Given the description of an element on the screen output the (x, y) to click on. 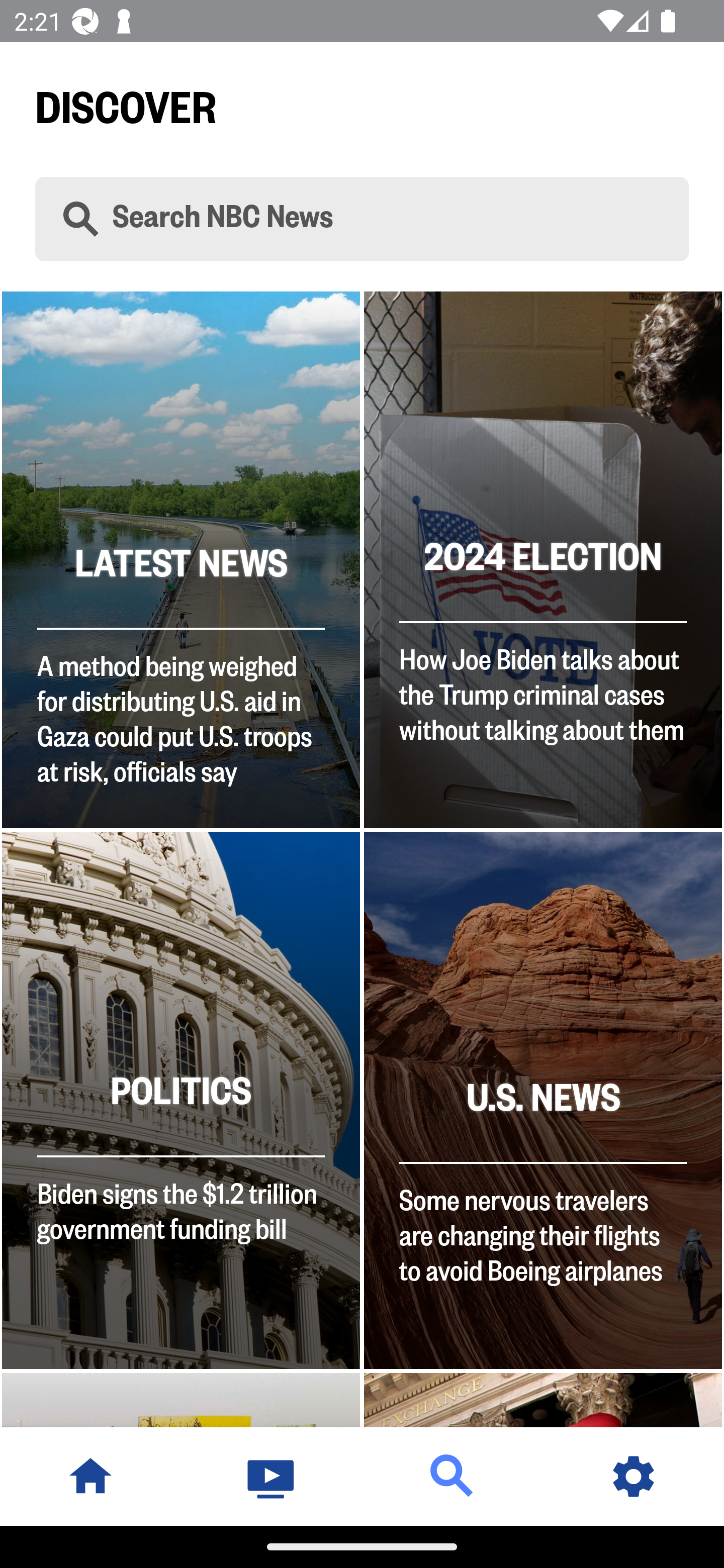
NBC News Home (90, 1475)
Watch (271, 1475)
Settings (633, 1475)
